Given the description of an element on the screen output the (x, y) to click on. 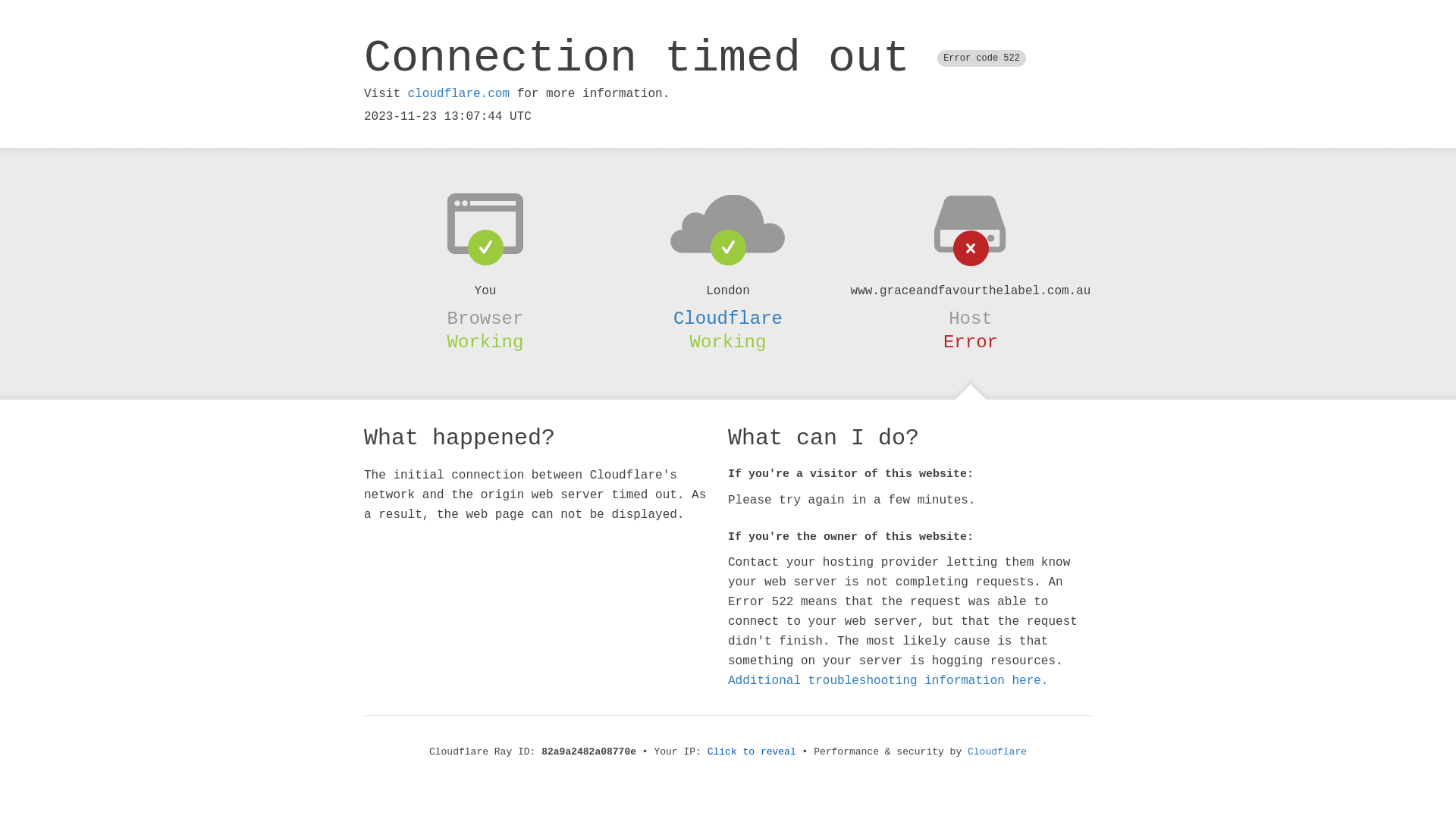
Additional troubleshooting information here. Element type: text (888, 680)
Cloudflare Element type: text (996, 751)
Cloudflare Element type: text (727, 318)
cloudflare.com Element type: text (458, 93)
Click to reveal Element type: text (751, 751)
